Given the description of an element on the screen output the (x, y) to click on. 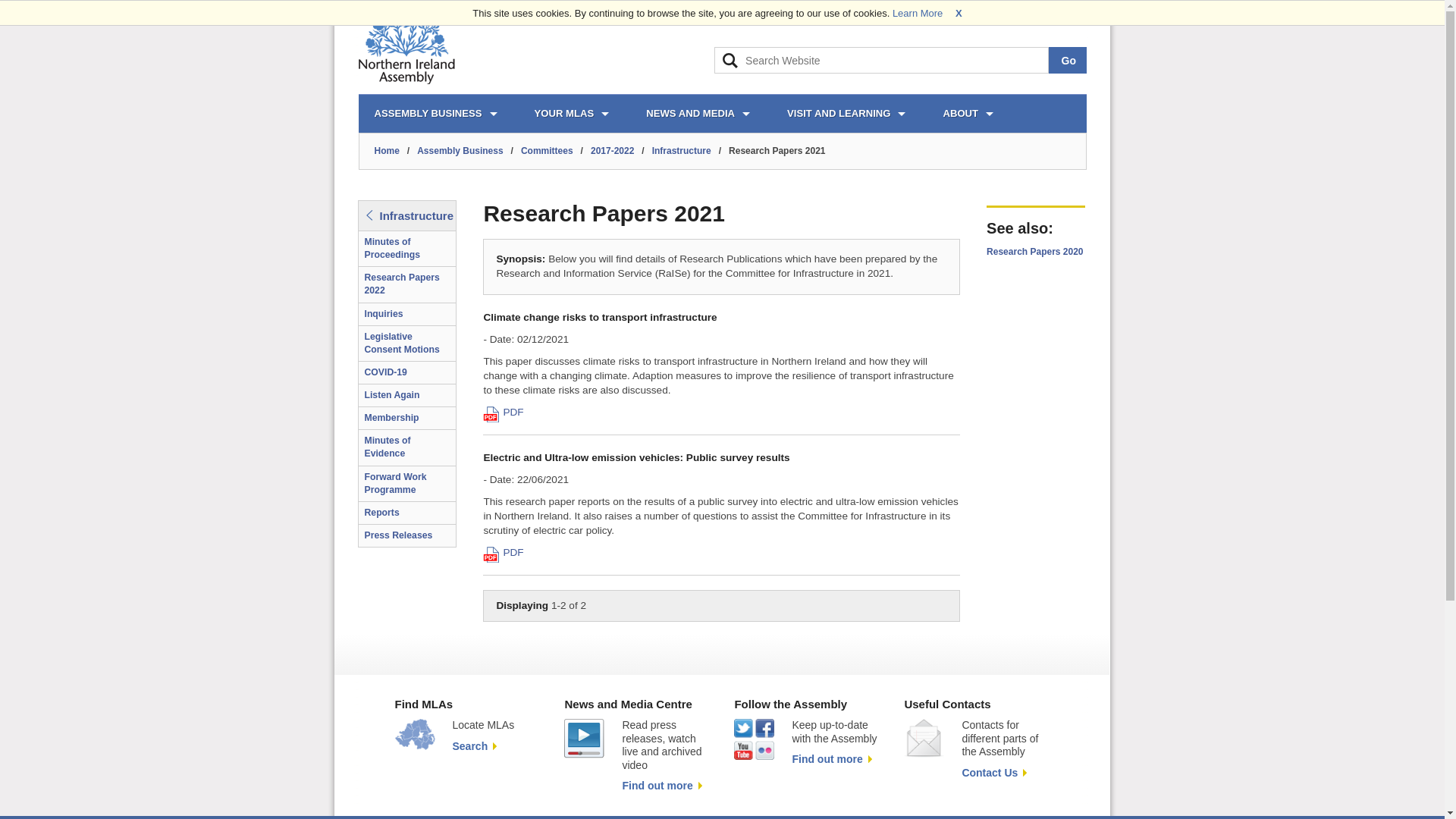
Go (1067, 59)
YouTube (1007, 11)
X (958, 12)
Contacts (874, 11)
Northern Ireland Assembly (406, 45)
Twitter (1038, 11)
Northern Ireland Assembly logo (406, 45)
Quick Links (776, 11)
Learn More (918, 12)
Facebook (1069, 11)
ASSEMBLY BUSINESS (435, 113)
Go (1067, 59)
YOUR MLAS (571, 113)
